Given the description of an element on the screen output the (x, y) to click on. 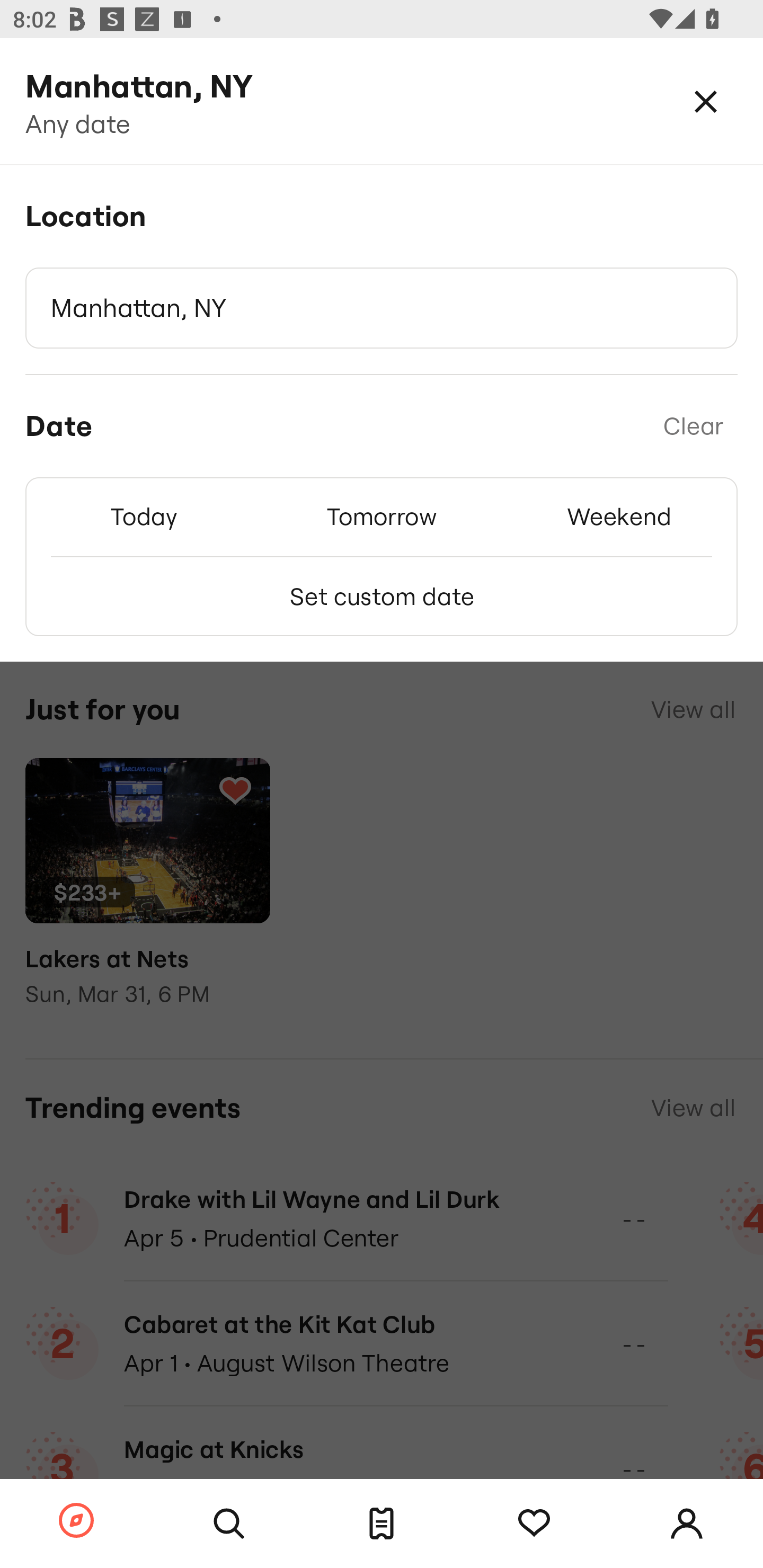
Close (705, 100)
Manhattan, NY (381, 308)
Clear (693, 426)
Today (143, 516)
Tomorrow (381, 516)
Weekend (618, 516)
Set custom date (381, 596)
Browse (76, 1521)
Search (228, 1523)
Tickets (381, 1523)
Tracking (533, 1523)
Account (686, 1523)
